Given the description of an element on the screen output the (x, y) to click on. 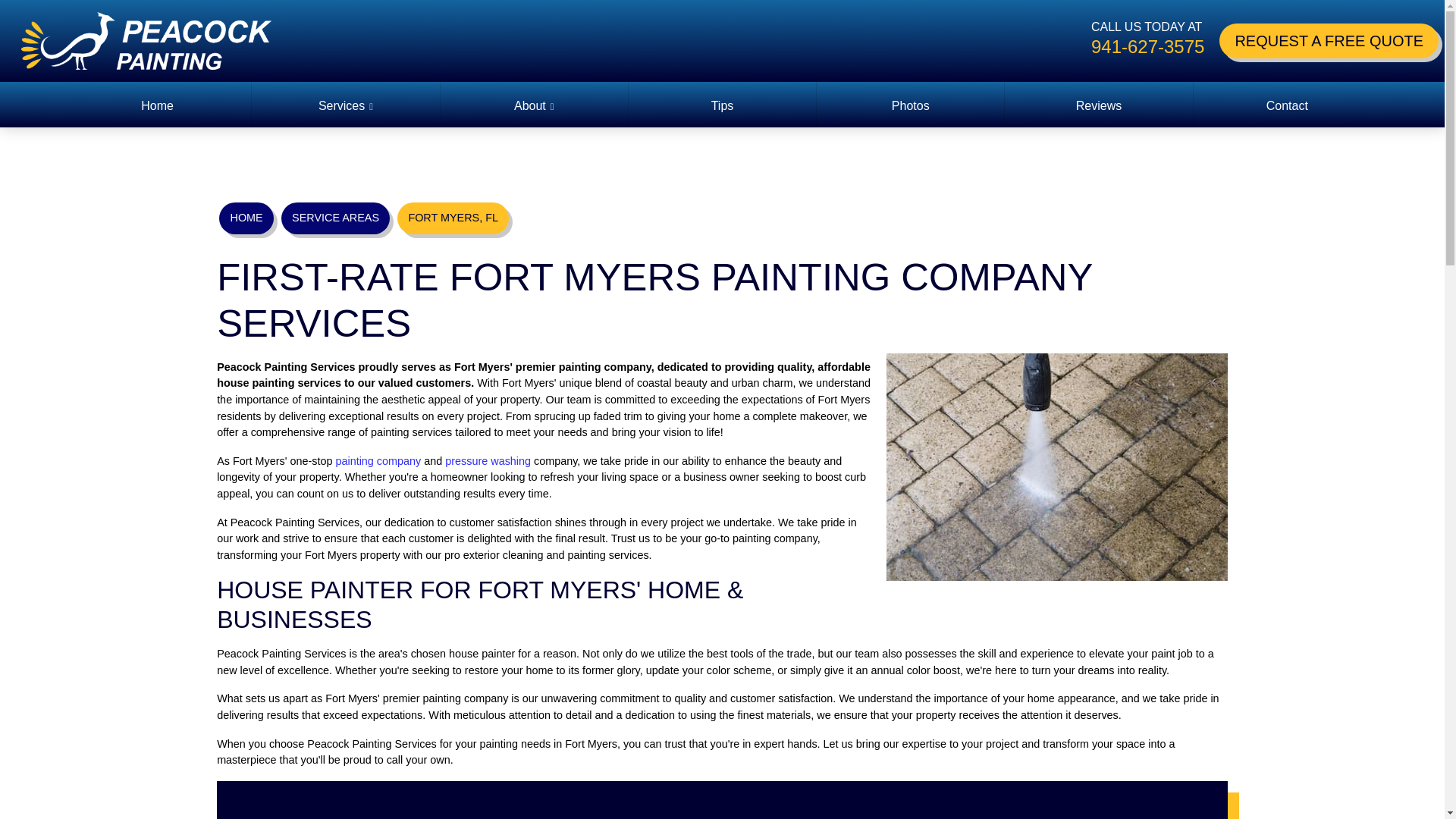
painting company (377, 460)
Contact (1286, 106)
Tips (721, 106)
REQUEST A FREE QUOTE (1329, 40)
Services (345, 106)
941-627-3575 (1147, 47)
SERVICE AREAS (335, 218)
Photos (910, 106)
pressure washing (488, 460)
Home (157, 106)
About (534, 106)
FORT MYERS, FL (452, 218)
Reviews (1098, 106)
HOME (246, 218)
